Given the description of an element on the screen output the (x, y) to click on. 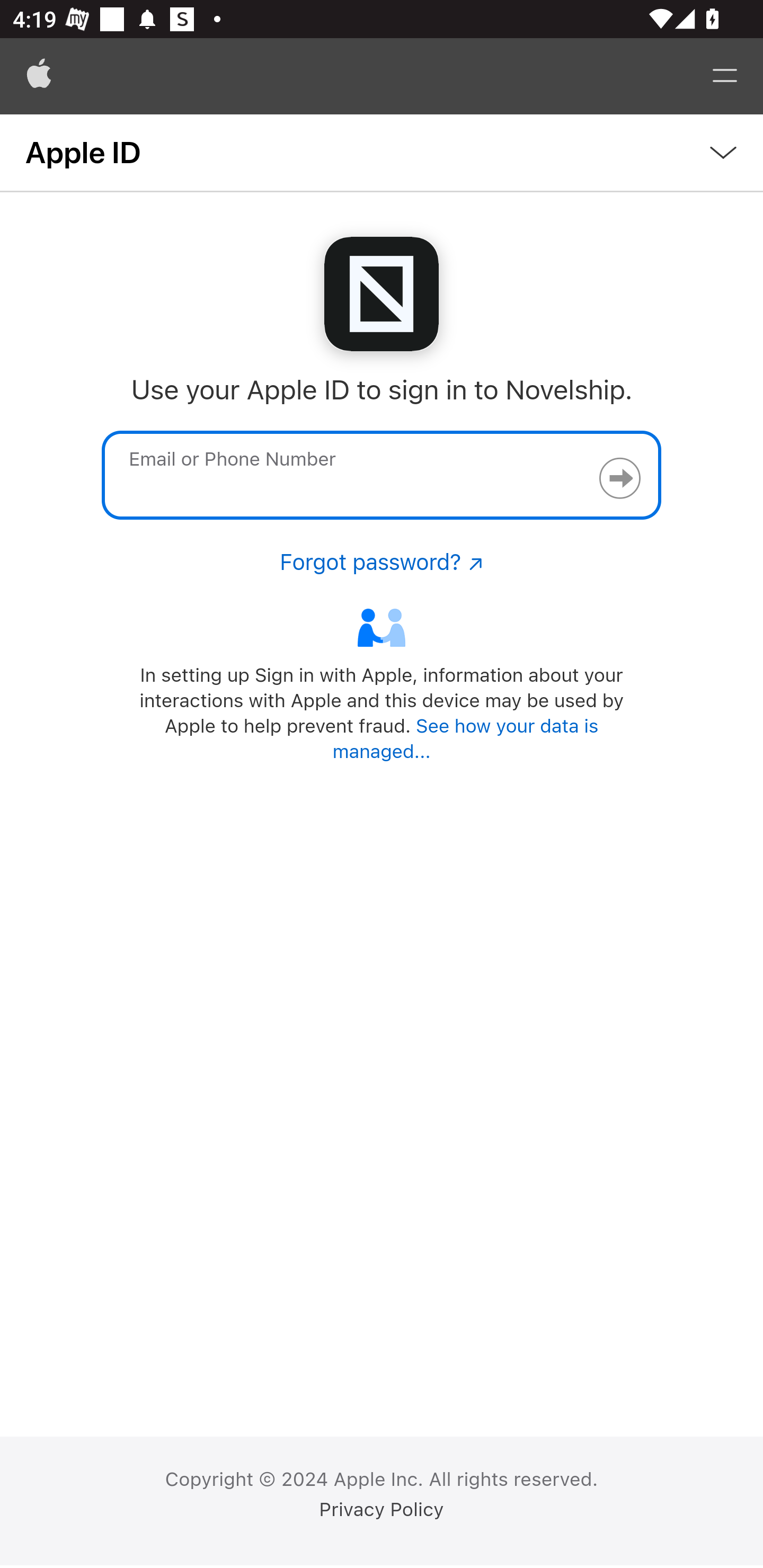
Apple (38, 75)
Menu (724, 75)
Continue (618, 477)
Privacy Policy (381, 1509)
